Given the description of an element on the screen output the (x, y) to click on. 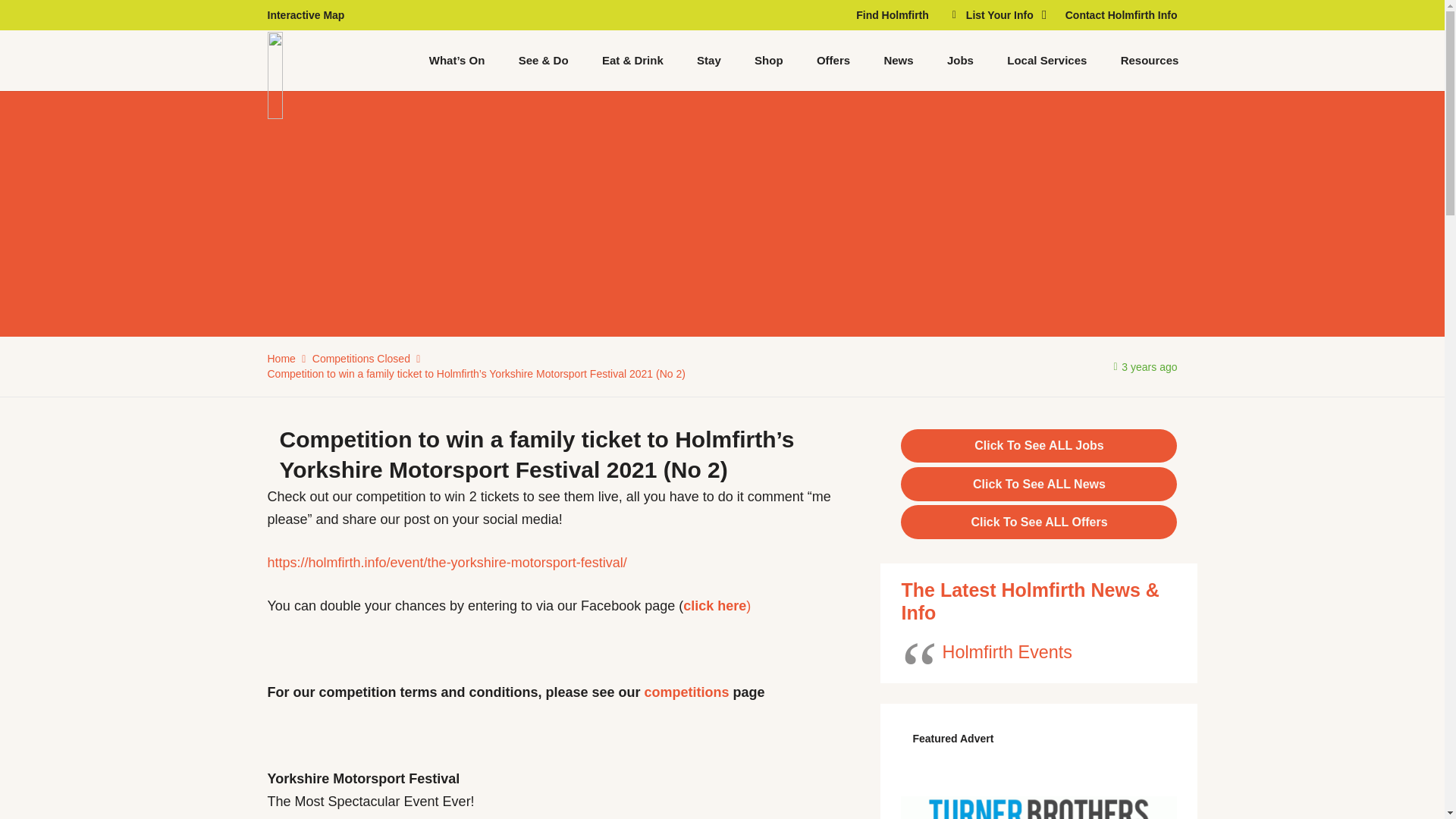
Interactive Map (304, 15)
Contact Holmfirth Info (1121, 15)
Find Holmfirth (892, 15)
List Your Info (997, 14)
